Given the description of an element on the screen output the (x, y) to click on. 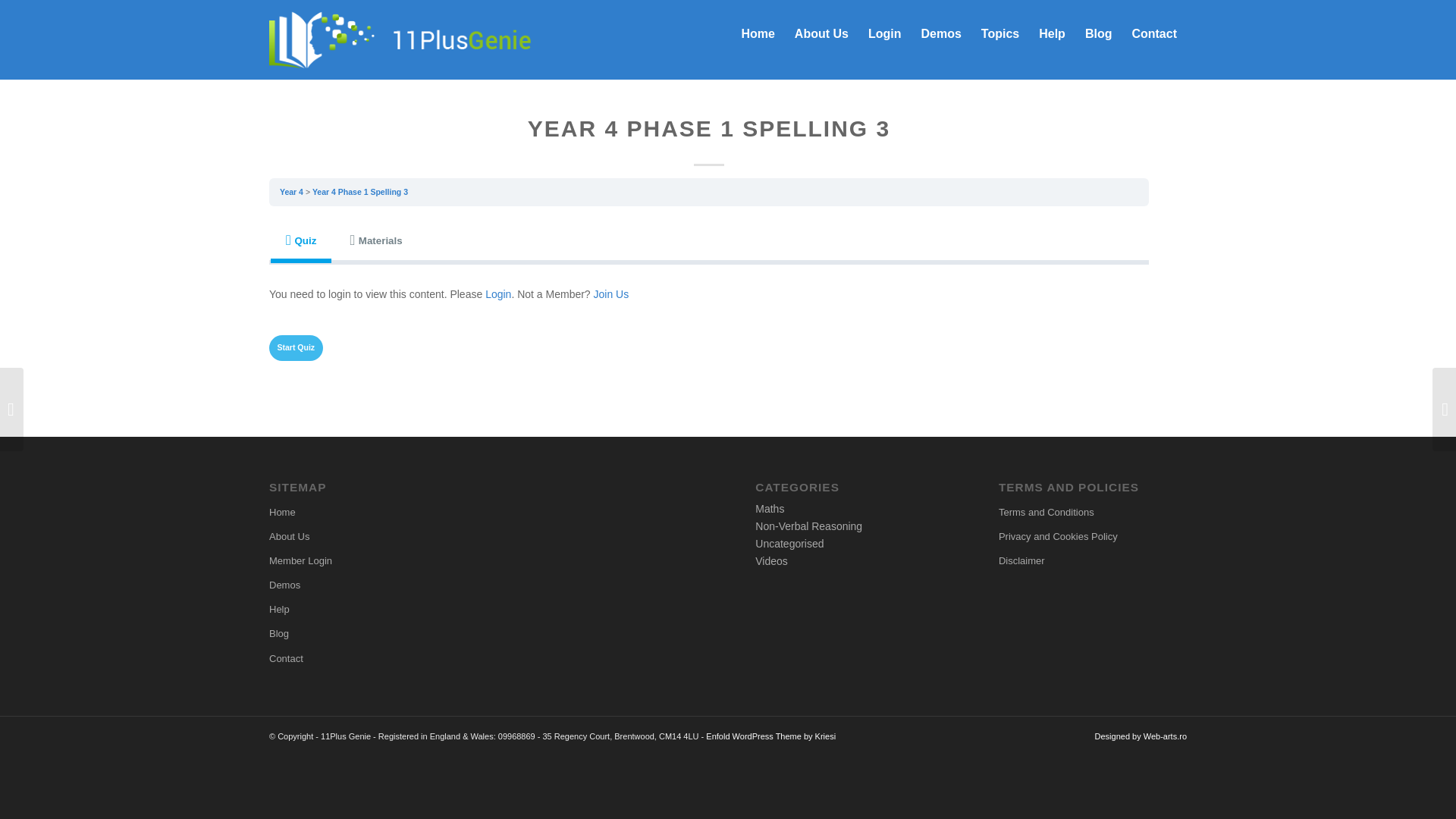
Contact (1153, 33)
Quiz (301, 240)
About Us (821, 33)
Login (497, 294)
Join Us (611, 294)
logo (400, 33)
logo-original (427, 33)
Start Quiz (296, 347)
Year 4 (290, 191)
Materials (376, 240)
